Given the description of an element on the screen output the (x, y) to click on. 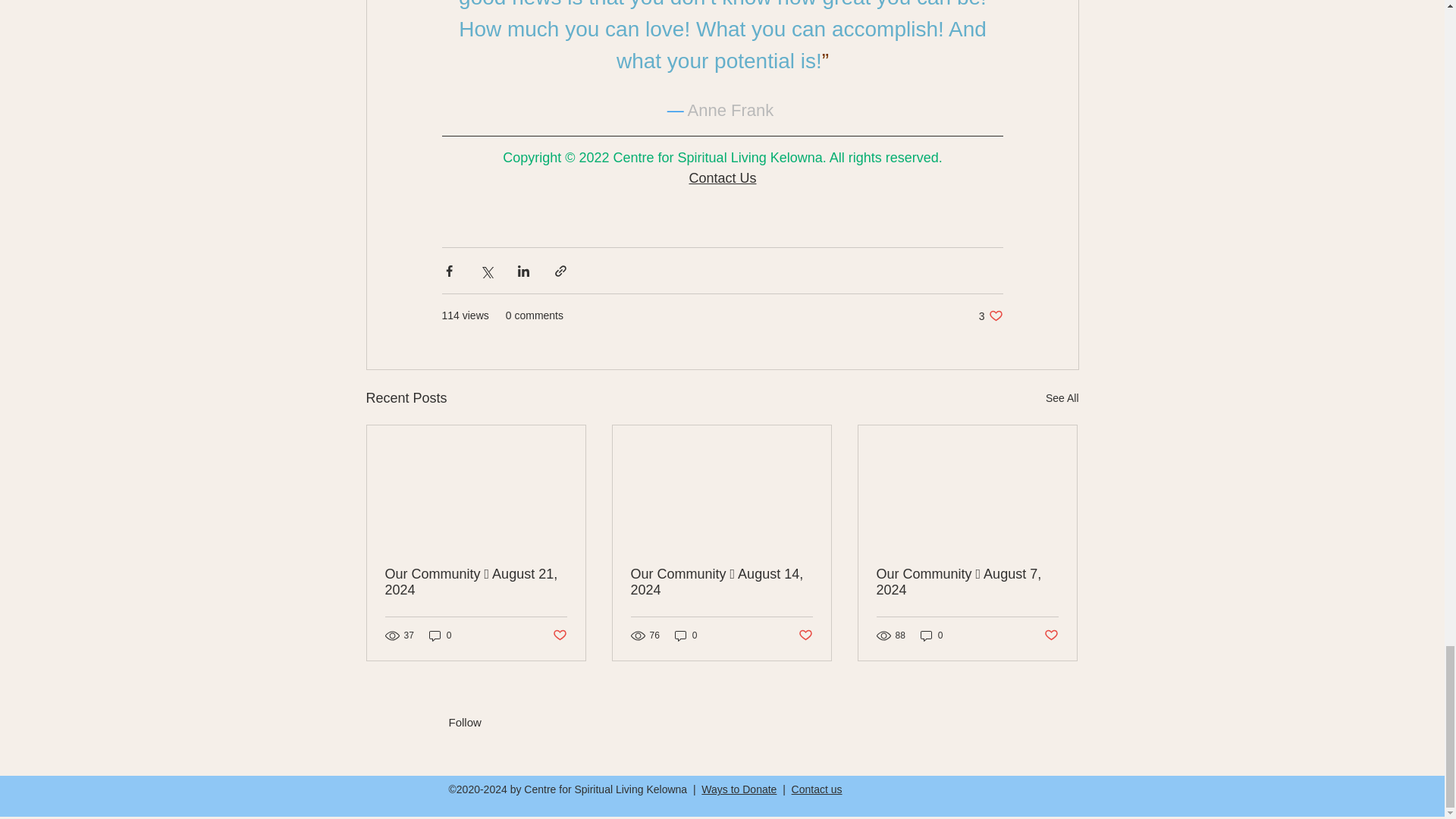
See All (1061, 398)
0 (440, 635)
Contact Us (721, 177)
Post not marked as liked (558, 635)
